Given the description of an element on the screen output the (x, y) to click on. 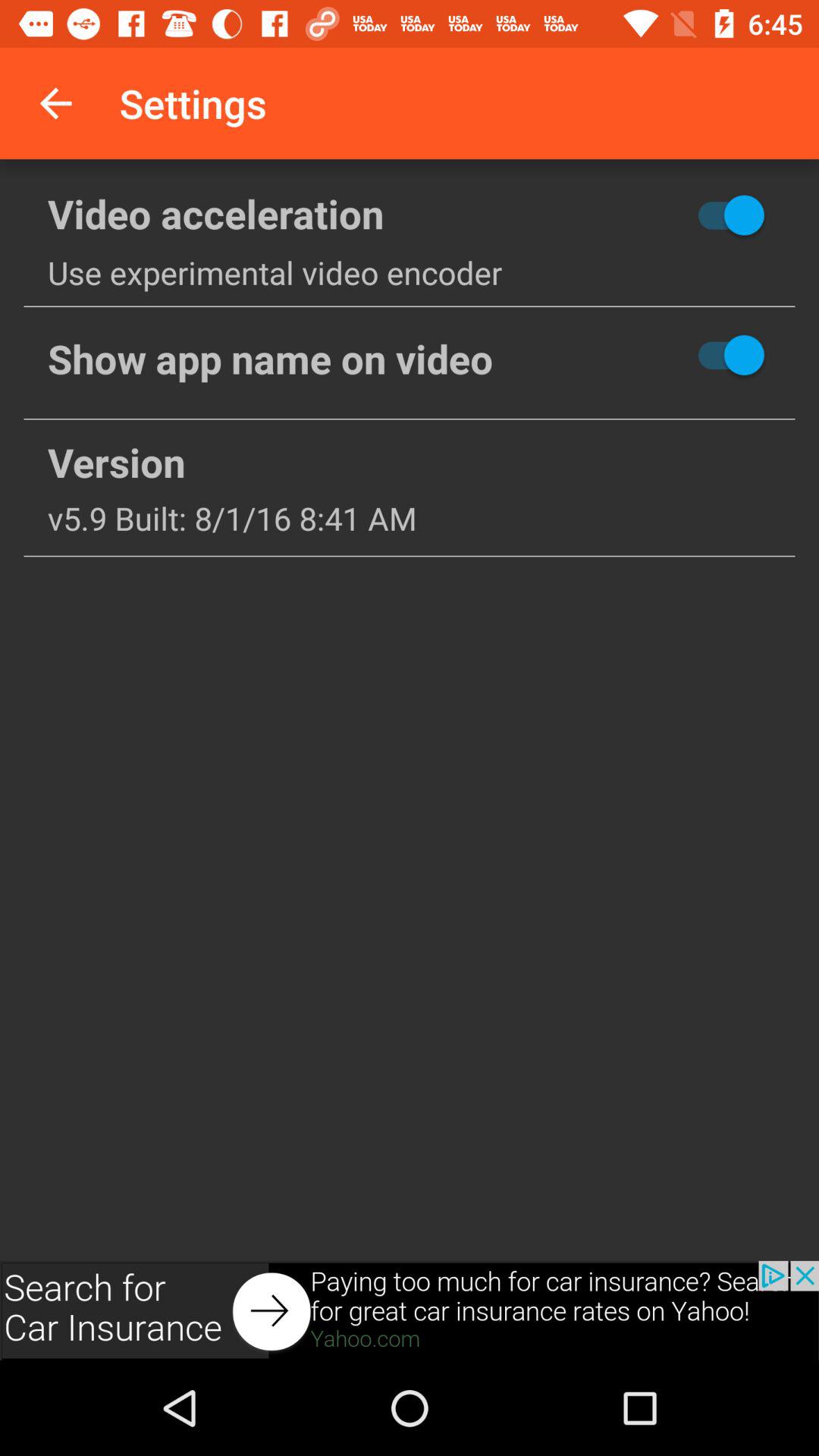
advertisement (409, 1310)
